Given the description of an element on the screen output the (x, y) to click on. 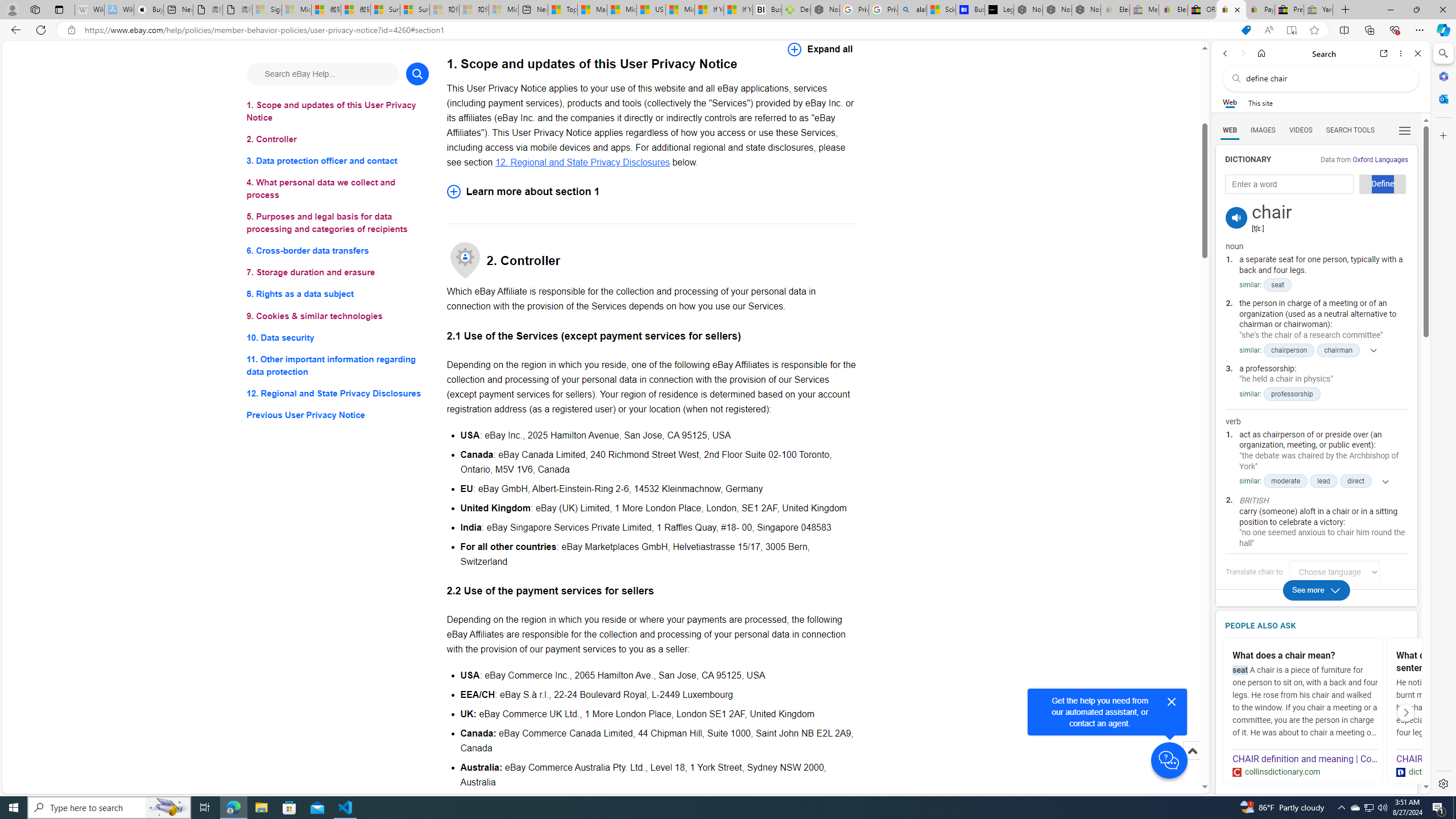
Link for logging (1338, 572)
9. Cookies & similar technologies (337, 315)
1. Scope and updates of this User Privacy Notice (337, 111)
